Given the description of an element on the screen output the (x, y) to click on. 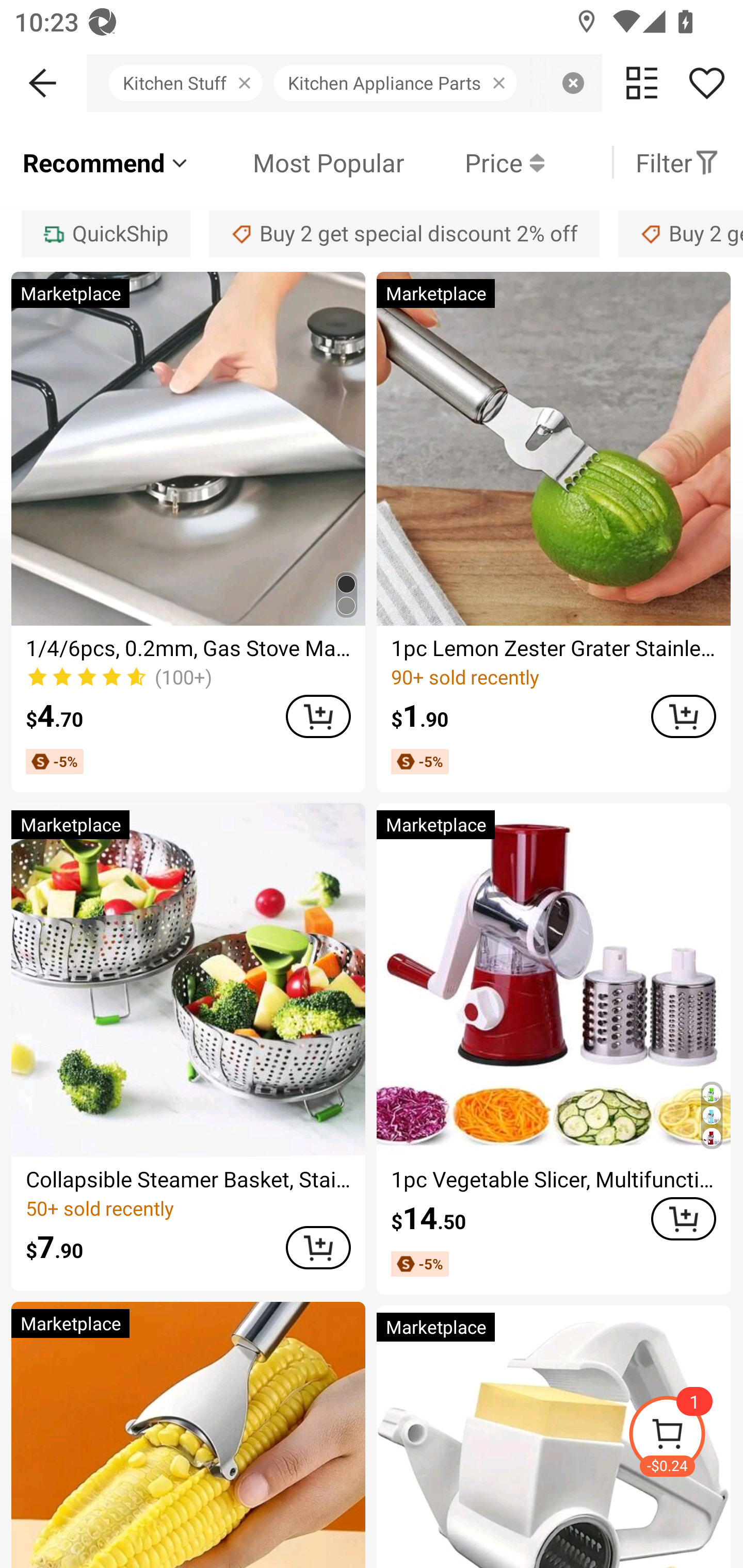
Kitchen Stuff (190, 82)
Kitchen Appliance Parts (400, 82)
Clear (572, 82)
change view (641, 82)
Share (706, 82)
Recommend (106, 162)
Most Popular (297, 162)
Price (474, 162)
Filter (677, 162)
QuickShip (105, 233)
Buy 2 get special discount 2% off (403, 233)
Buy 2 get special discount 1% off (680, 233)
ADD TO CART (318, 716)
ADD TO CART (683, 716)
ADD TO CART (683, 1218)
ADD TO CART (318, 1248)
-$0.24 (685, 1436)
